Given the description of an element on the screen output the (x, y) to click on. 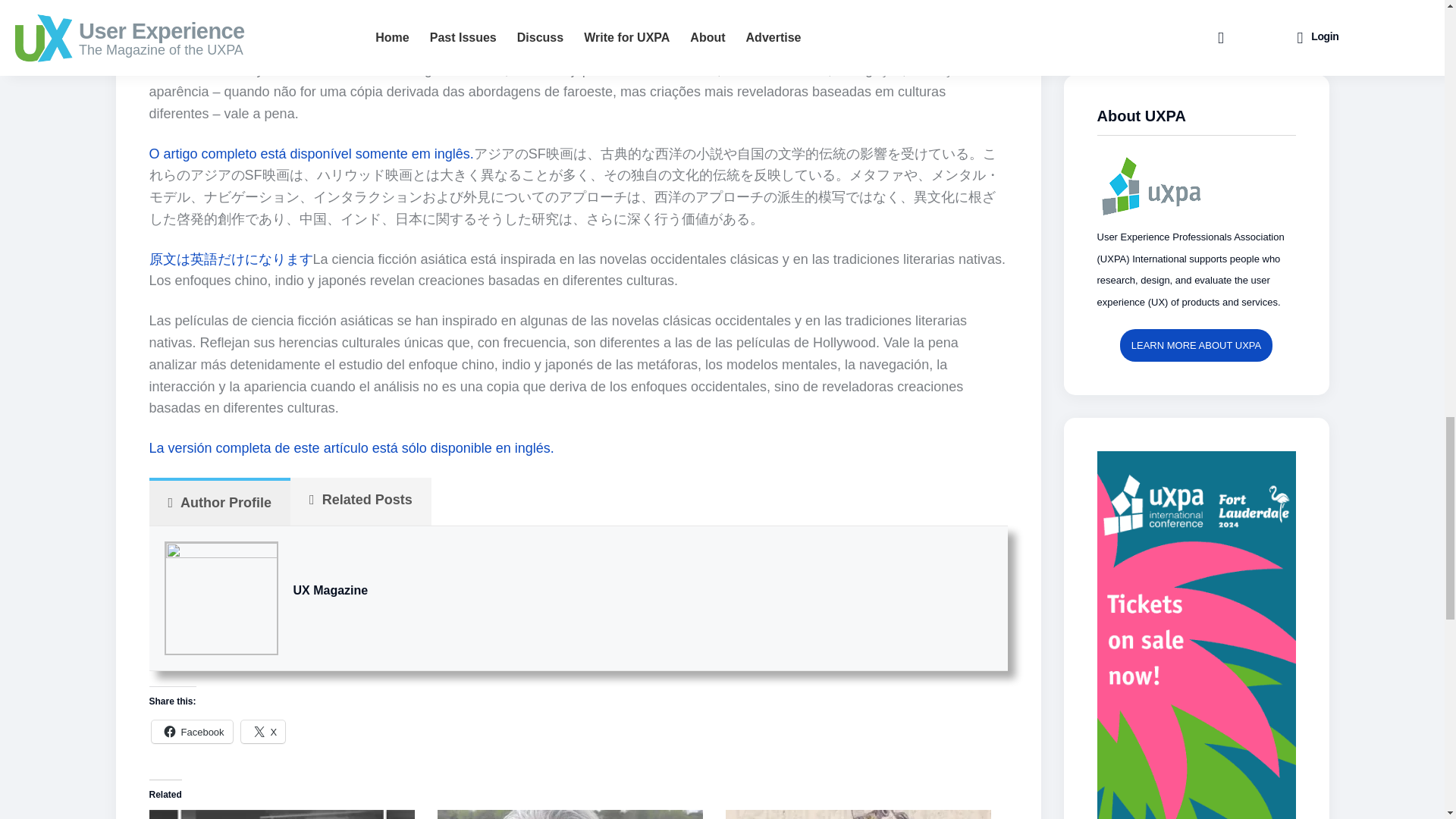
Click to share on Facebook (191, 731)
Click to share on X (263, 731)
